Given the description of an element on the screen output the (x, y) to click on. 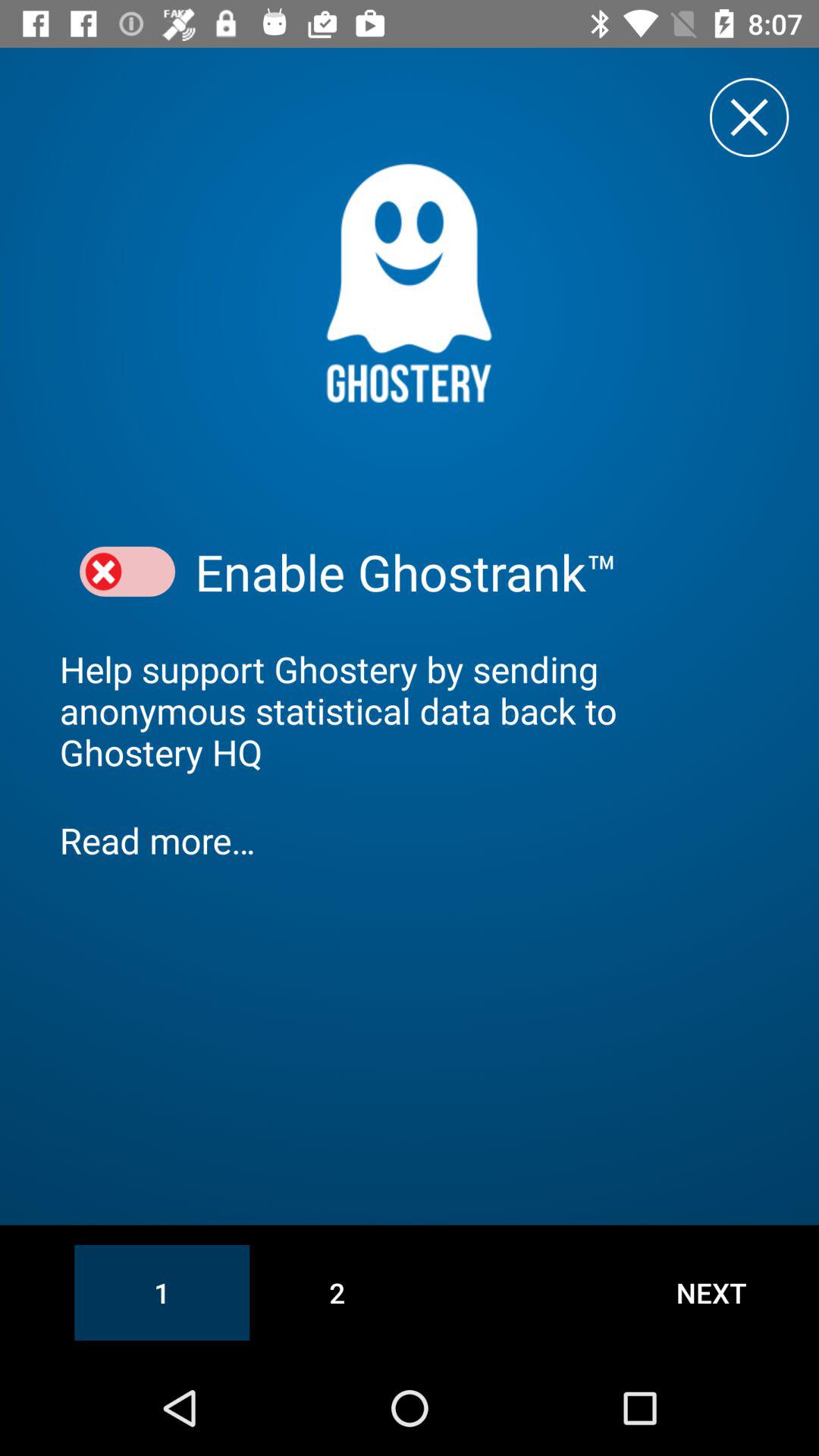
click 1 (161, 1292)
